Given the description of an element on the screen output the (x, y) to click on. 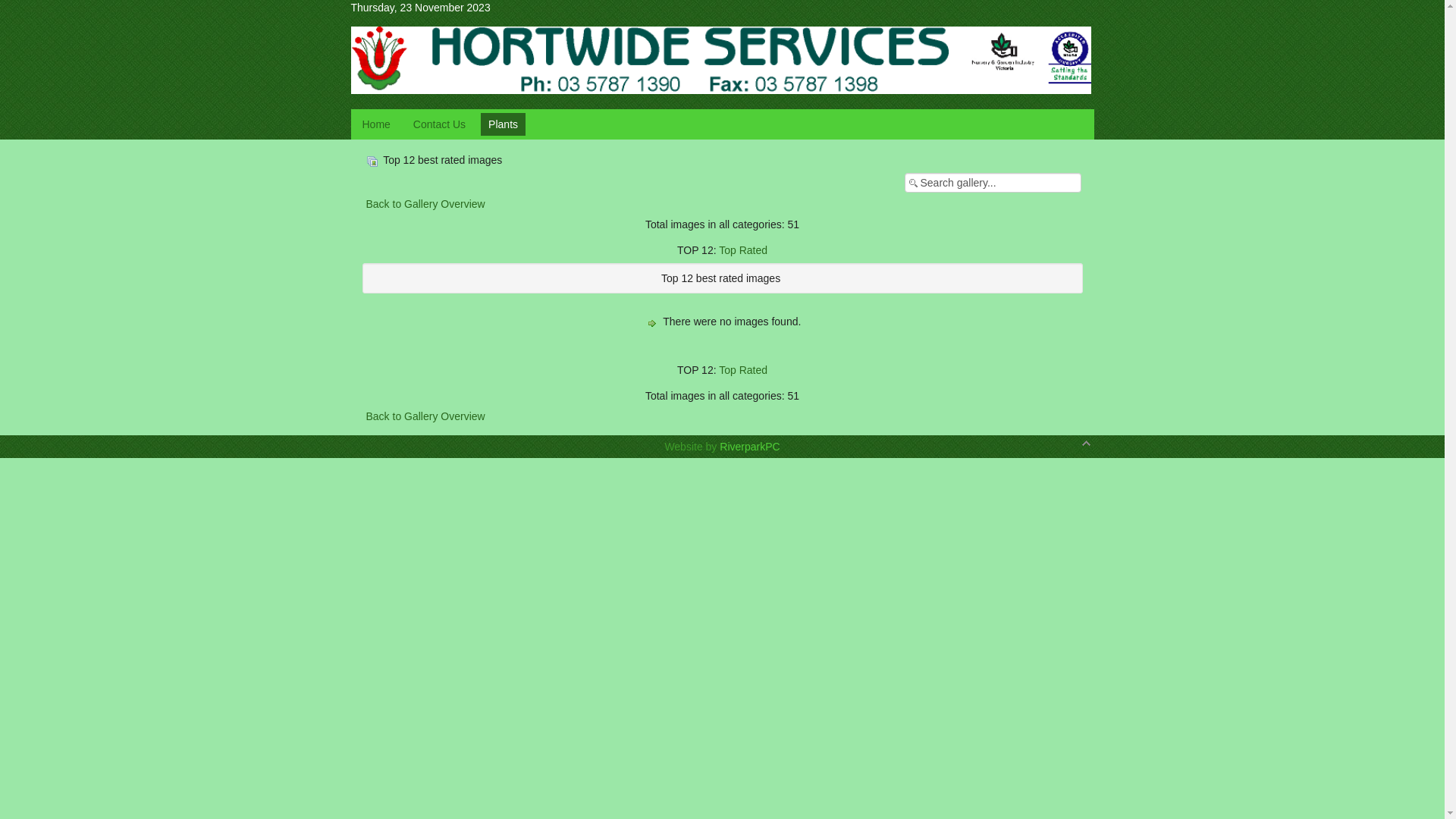
Plants Element type: text (502, 123)
Contact Us Element type: text (439, 123)
RiverparkPC Element type: text (749, 446)
Search gallery... Element type: hover (991, 182)
Top Rated Element type: text (742, 250)
Home Element type: text (376, 123)
Back to Gallery Overview Element type: text (424, 416)
Top Rated Element type: text (742, 370)
Back to Gallery Overview Element type: text (424, 203)
